Given the description of an element on the screen output the (x, y) to click on. 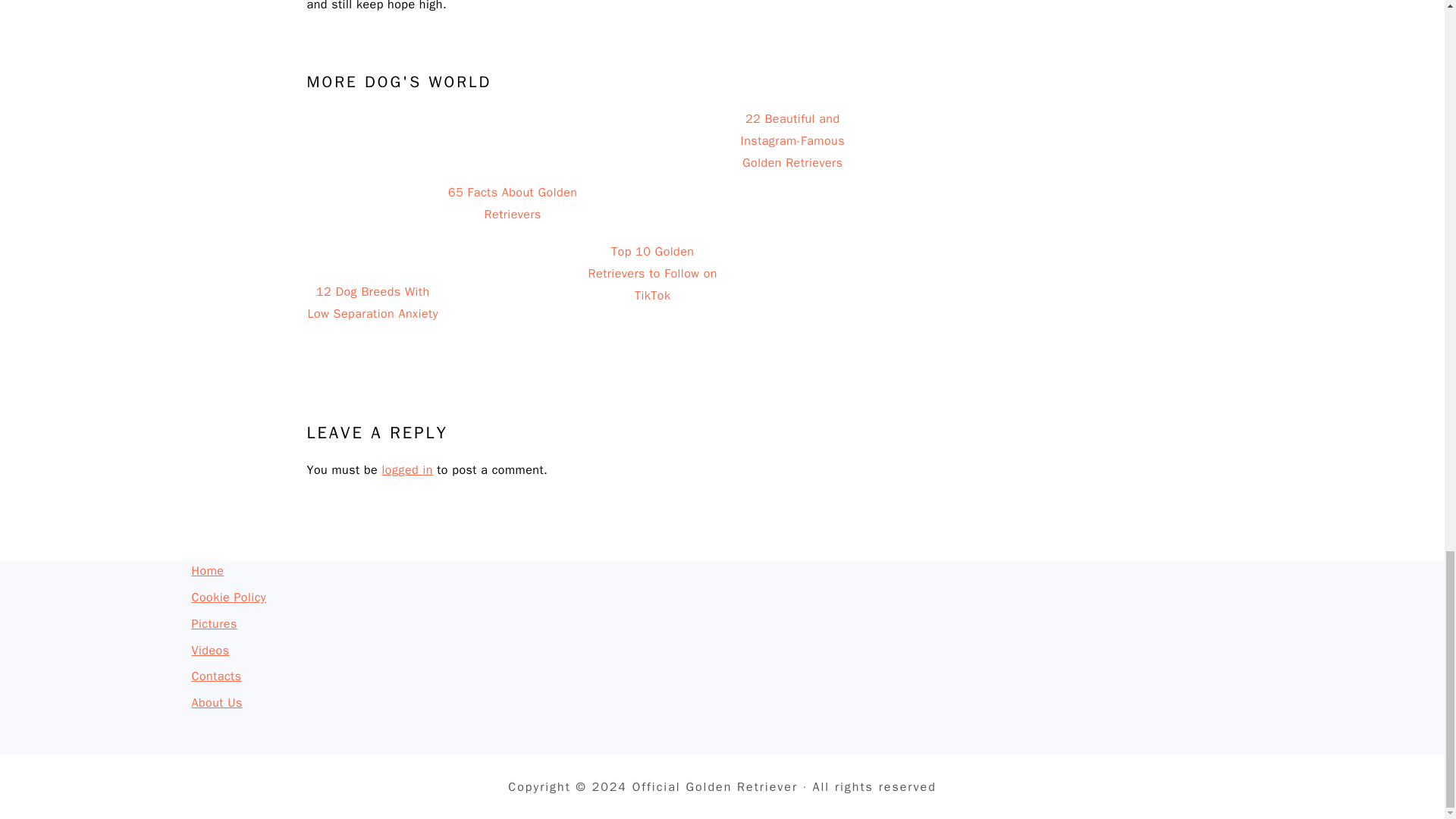
65 Facts About Golden Retrievers (512, 216)
12 Dog Breeds With Low Separation Anxiety (372, 216)
logged in (406, 469)
Top 10 Golden Retrievers to Follow on TikTok (652, 216)
22 Beautiful and Instagram-Famous Golden Retrievers (792, 216)
